Given the description of an element on the screen output the (x, y) to click on. 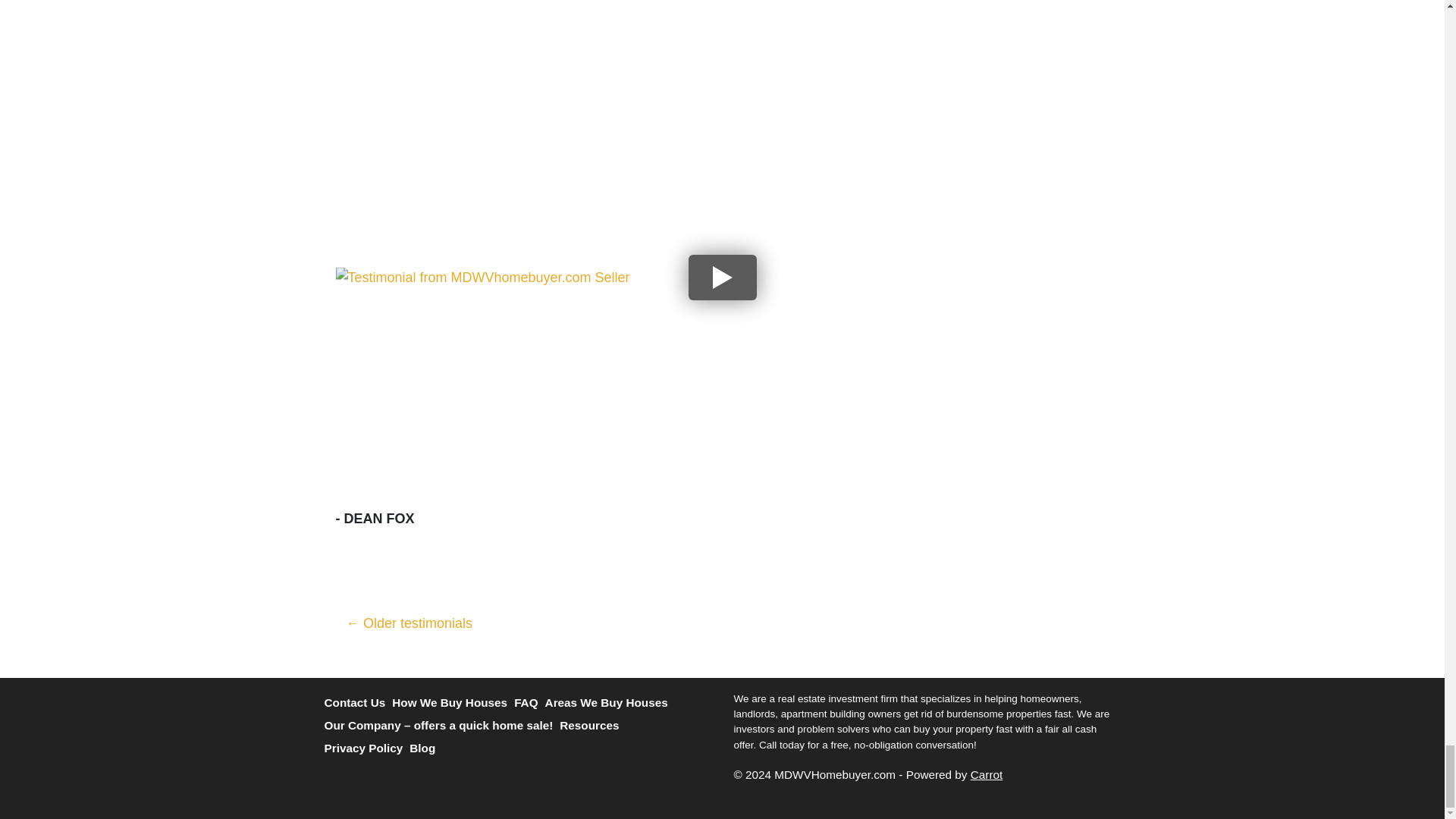
Areas We Buy Houses (609, 702)
FAQ (528, 702)
Older testimonials (408, 622)
Resources (592, 725)
How We Buy Houses (452, 702)
Contact Us (358, 702)
Privacy Policy (367, 748)
